Given the description of an element on the screen output the (x, y) to click on. 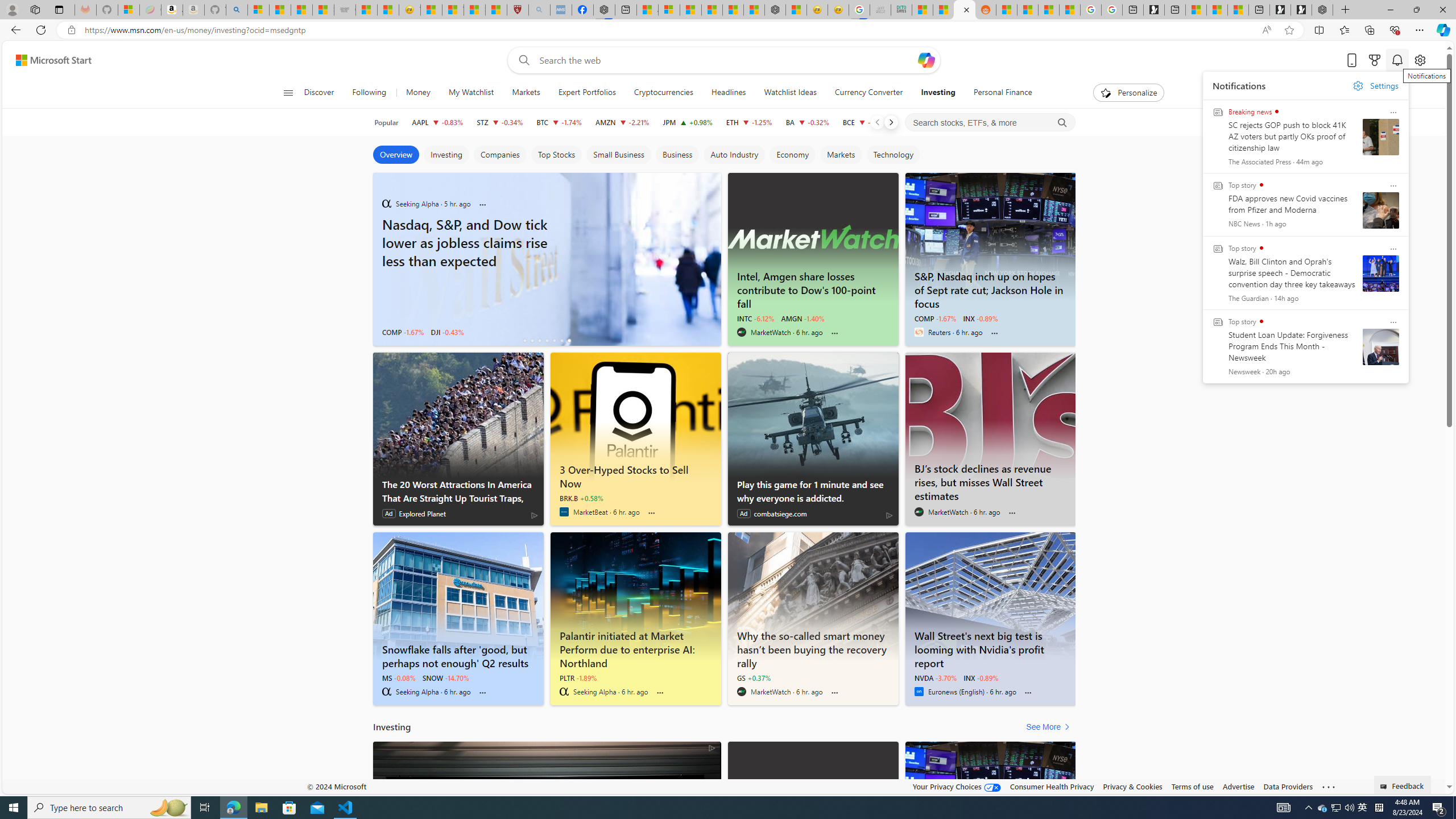
Nordace - Nordace Siena Is Not An Ordinary Backpack (1322, 9)
Expert Portfolios (586, 92)
BTC Bitcoin decrease 60,359.26 -1,049.65 -1.74% (559, 122)
MSNBC - MSN (922, 9)
App bar (728, 29)
3 Over-Hyped Stocks to Sell Now - MarketBeat (635, 416)
Markets (840, 154)
12 Popular Science Lies that Must be Corrected (496, 9)
DITOGAMES AG Imprint (901, 9)
Personal Finance (997, 92)
Investing (937, 92)
